Given the description of an element on the screen output the (x, y) to click on. 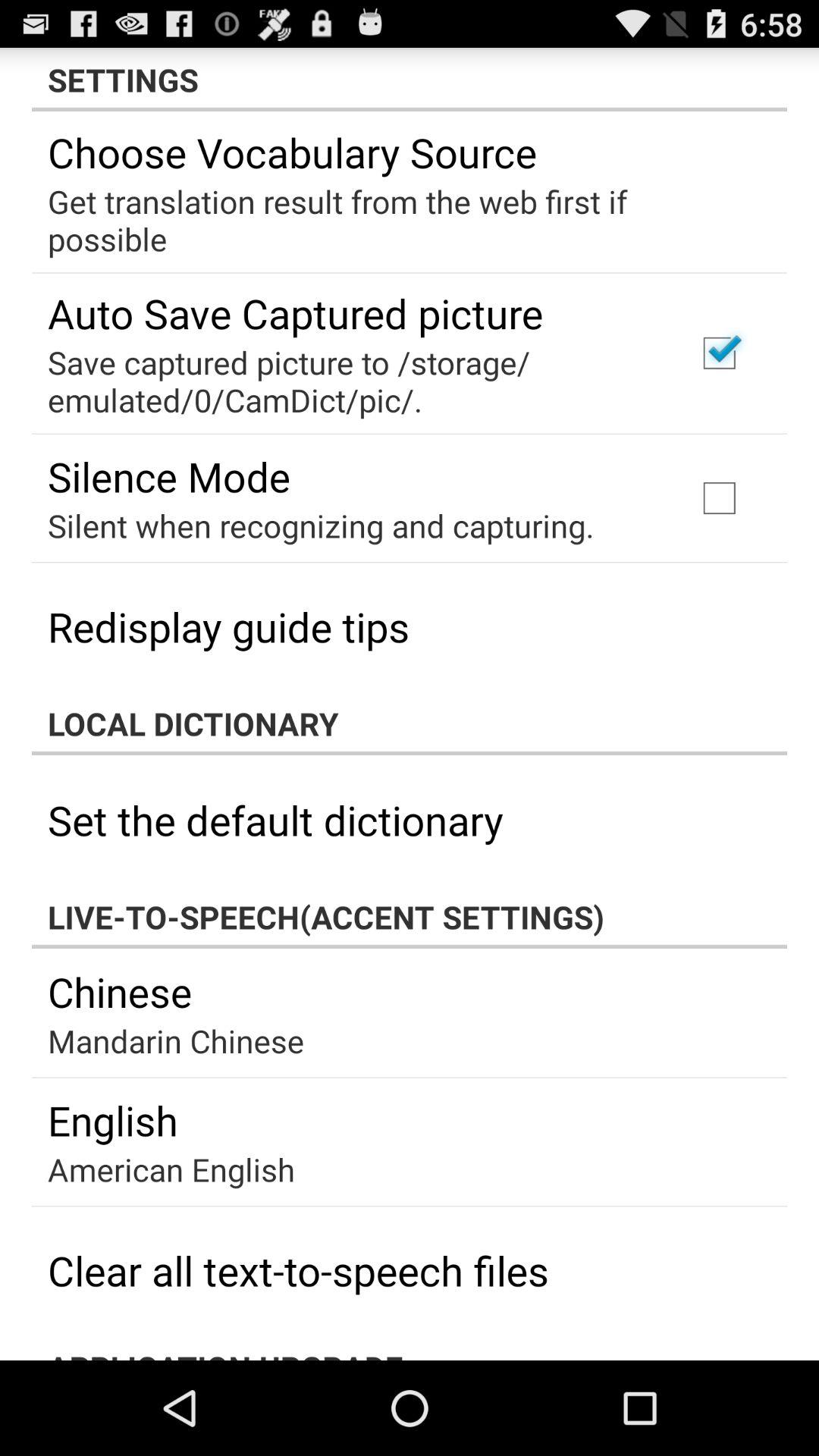
launch the app below the clear all text (409, 1347)
